Given the description of an element on the screen output the (x, y) to click on. 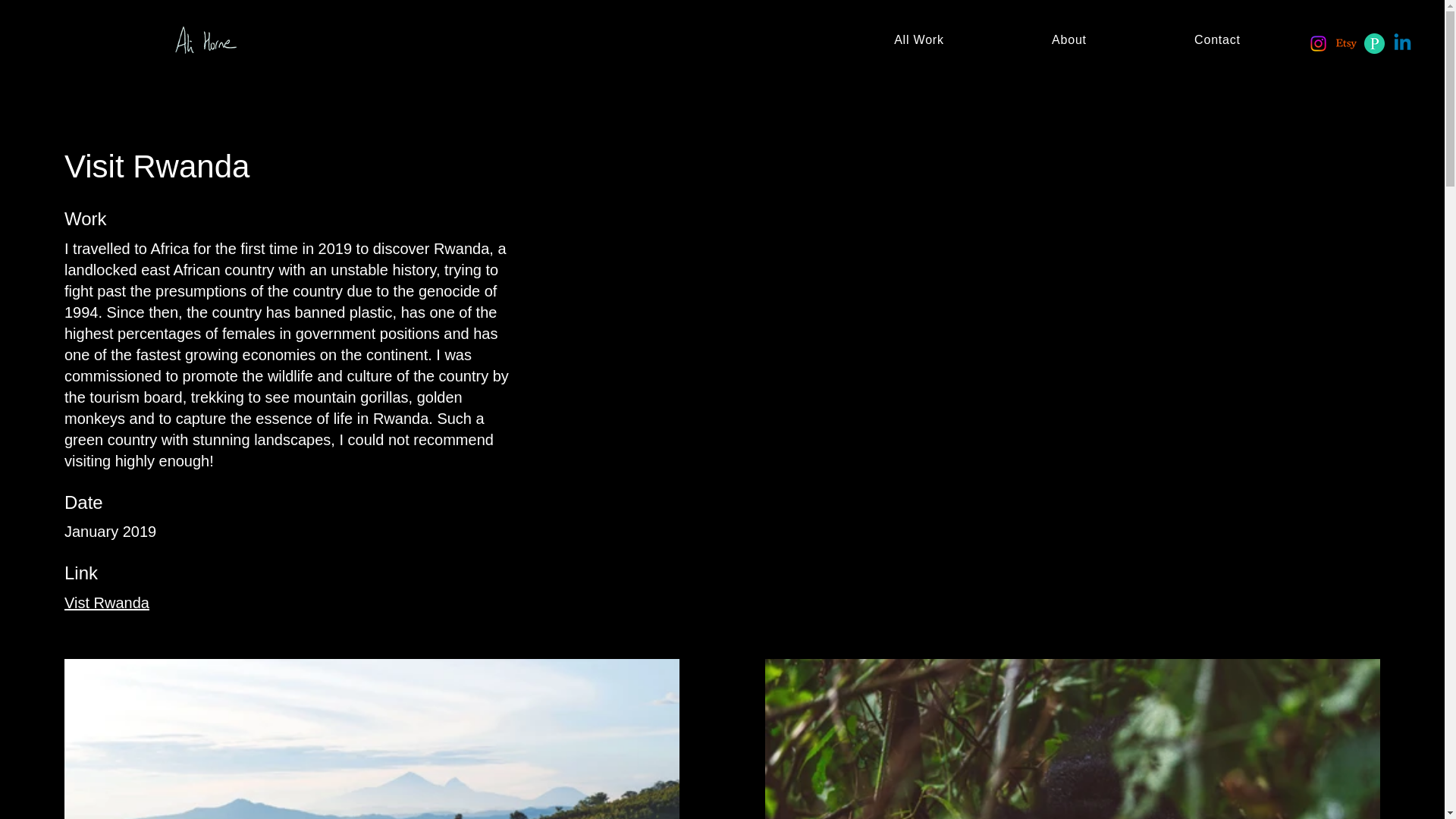
All Work (918, 39)
About (1069, 39)
Vist Rwanda (106, 602)
Contact (1216, 39)
